Given the description of an element on the screen output the (x, y) to click on. 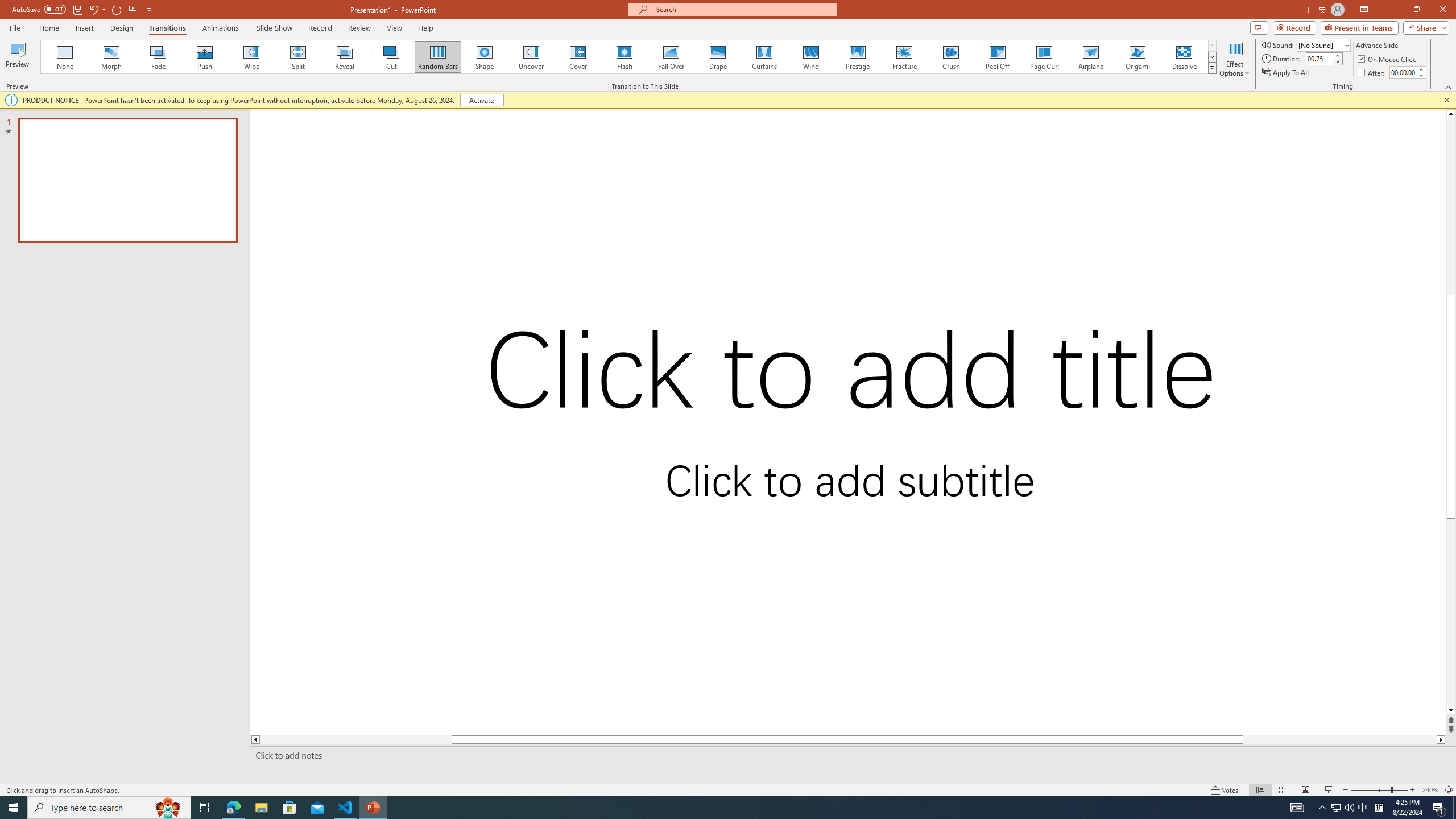
Flash (624, 56)
Peel Off (997, 56)
Page Curl (1043, 56)
Fall Over (670, 56)
Apply To All (1286, 72)
Uncover (531, 56)
AutomationID: AnimationTransitionGallery (628, 56)
